Given the description of an element on the screen output the (x, y) to click on. 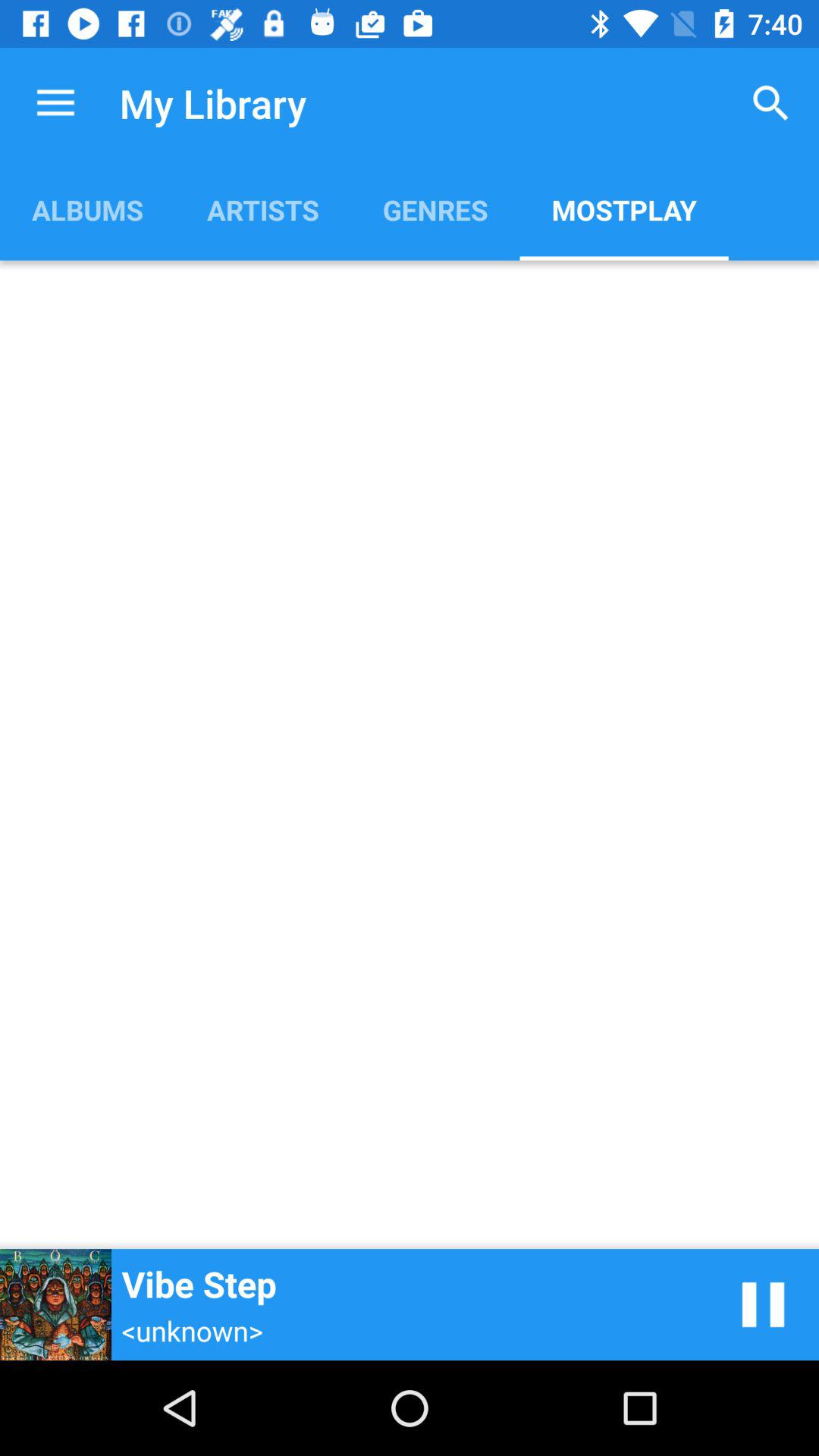
tap app next to artists (434, 209)
